Given the description of an element on the screen output the (x, y) to click on. 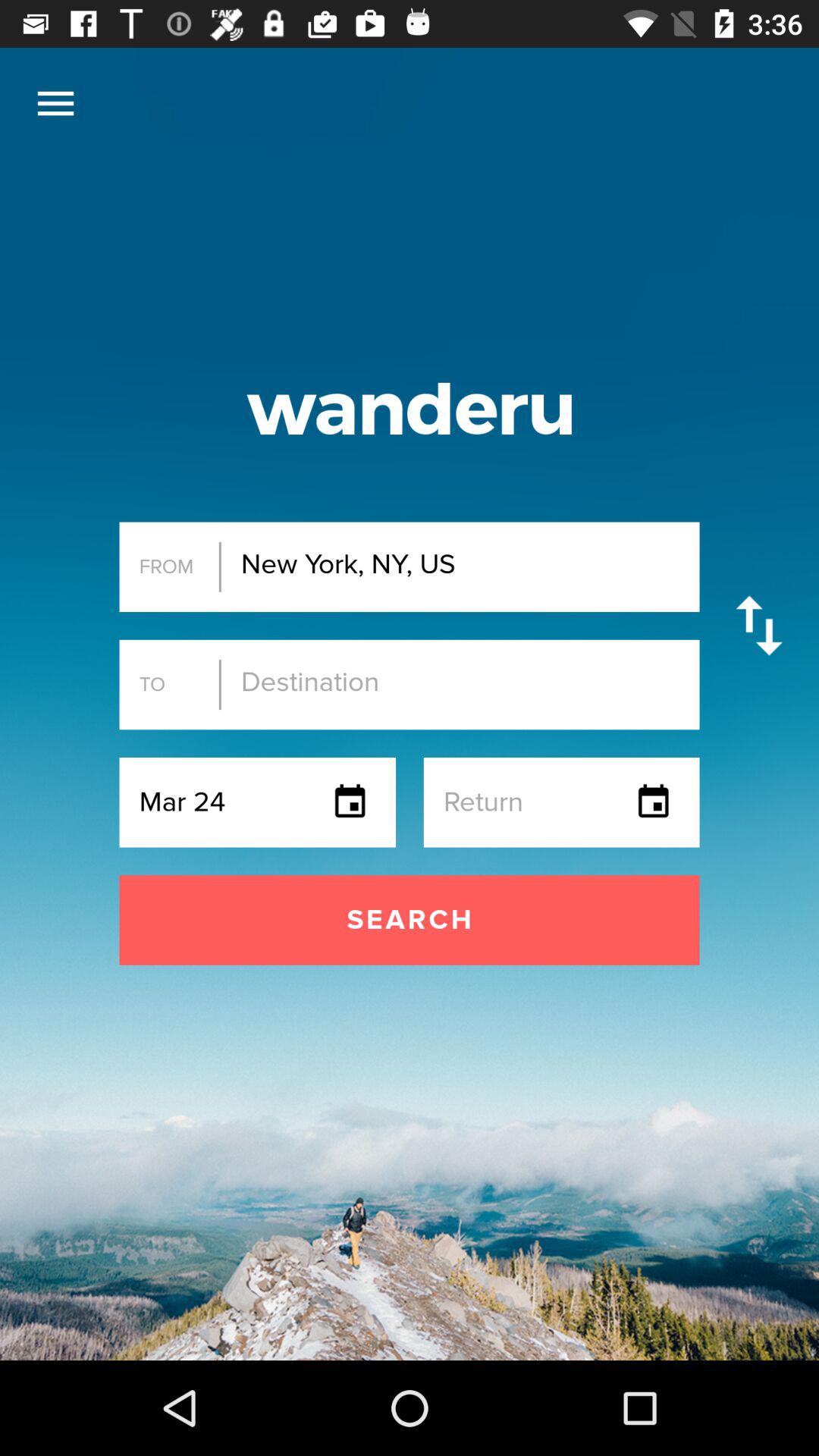
switch to and from (759, 625)
